Given the description of an element on the screen output the (x, y) to click on. 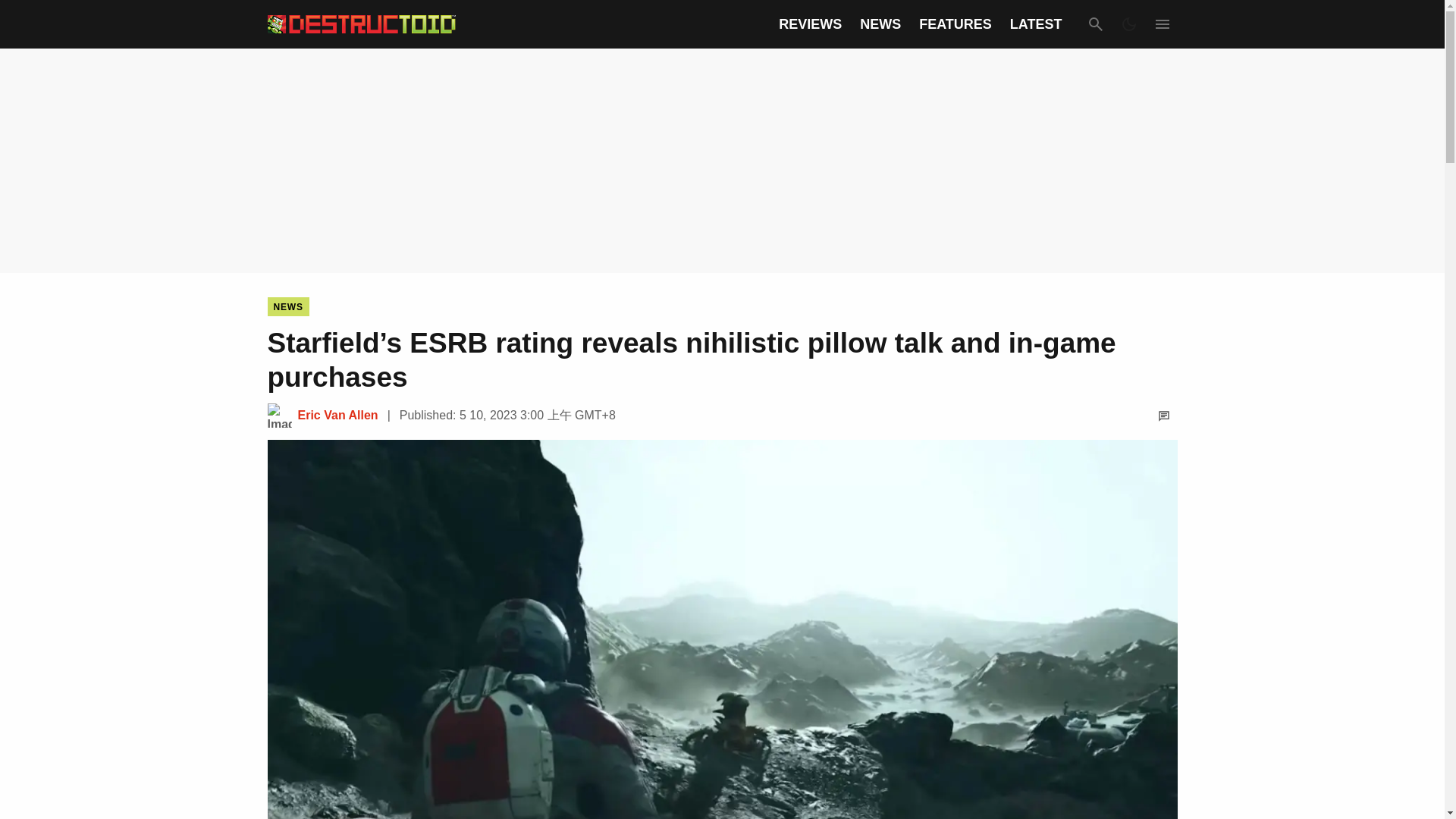
NEWS (880, 23)
FEATURES (954, 23)
REVIEWS (809, 23)
LATEST (1036, 23)
Expand Menu (1161, 24)
Dark Mode (1127, 24)
Search (1094, 24)
NEWS (287, 306)
